Given the description of an element on the screen output the (x, y) to click on. 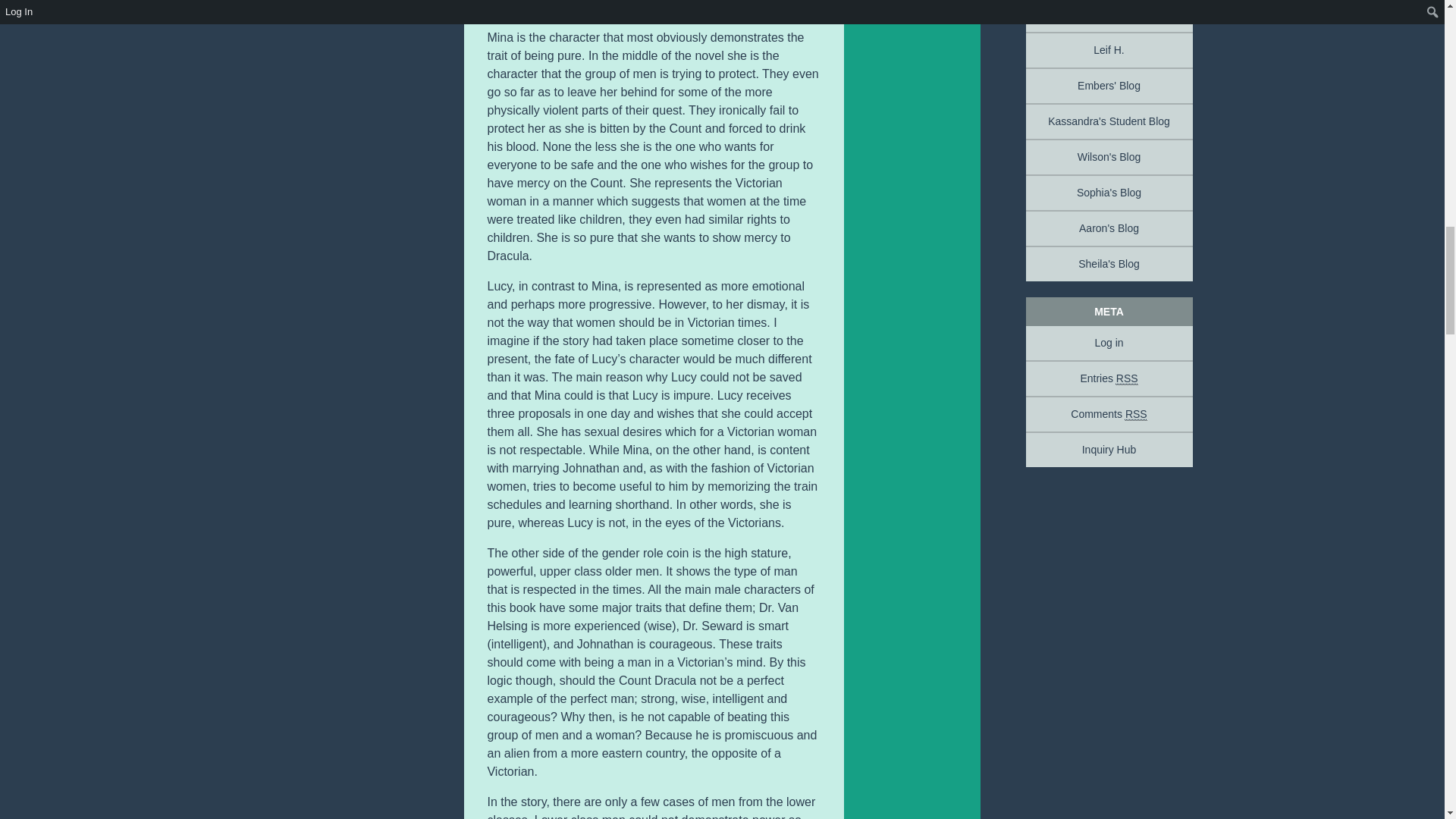
Really Simple Syndication (1127, 378)
Powered by Inquiry Hub (1109, 449)
Really Simple Syndication (1136, 413)
Syndicate this site using RSS 2.0 (1108, 378)
The latest comments to all posts in RSS (1108, 413)
